Given the description of an element on the screen output the (x, y) to click on. 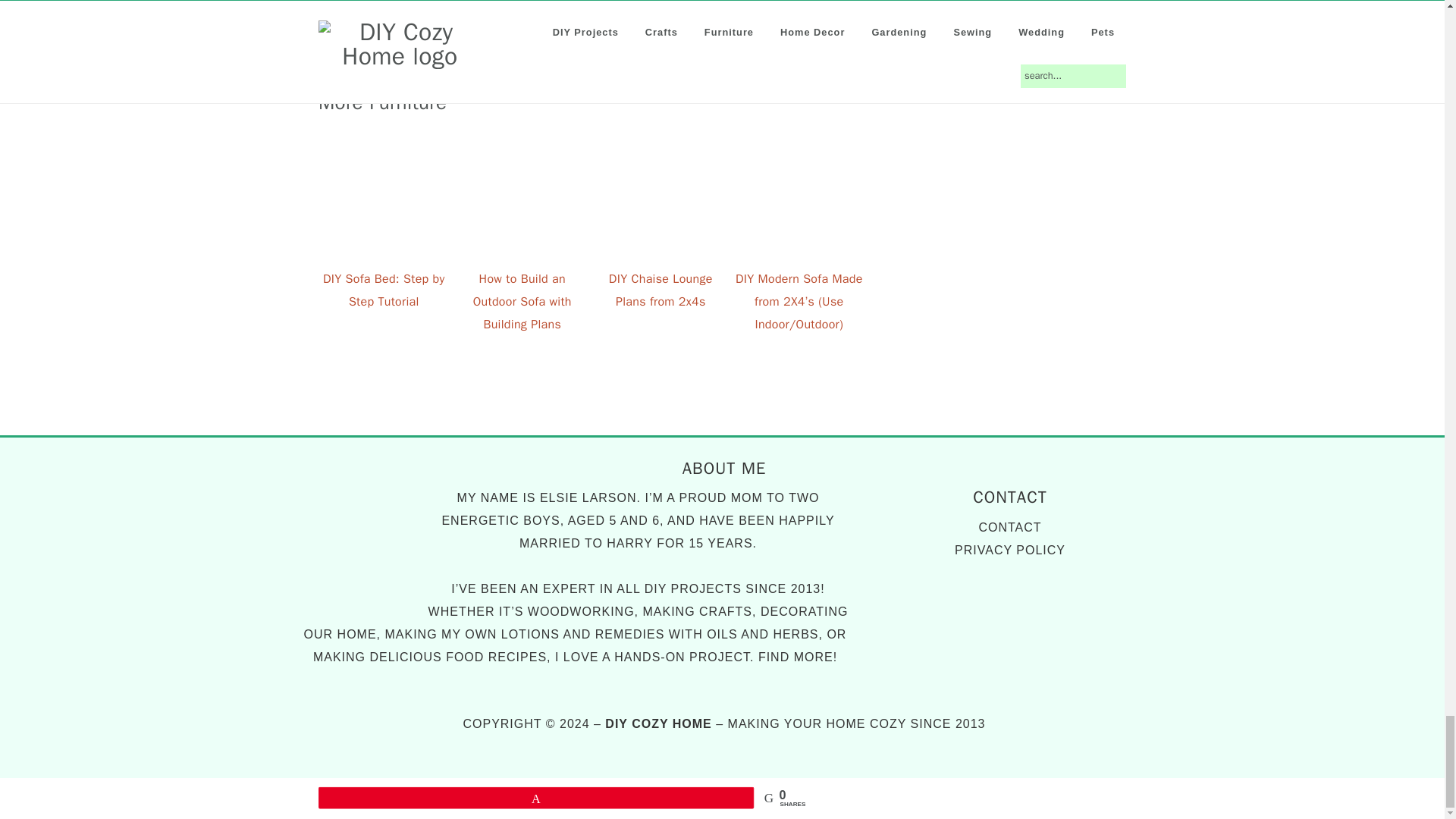
PRIVACY POLICY (1010, 549)
FIND MORE! (797, 656)
CONTACT (1009, 526)
